Given the description of an element on the screen output the (x, y) to click on. 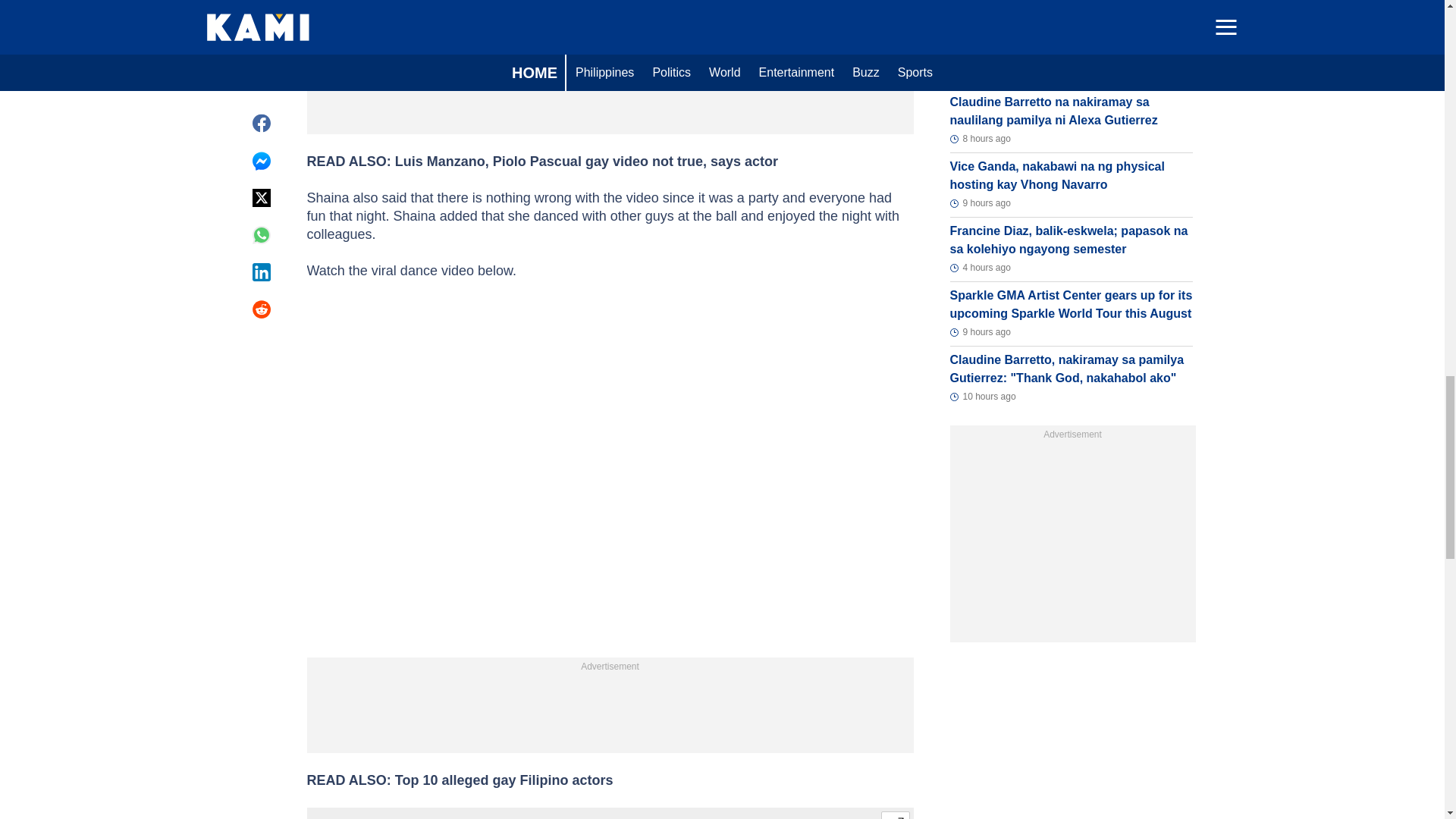
Expand image (895, 815)
